Given the description of an element on the screen output the (x, y) to click on. 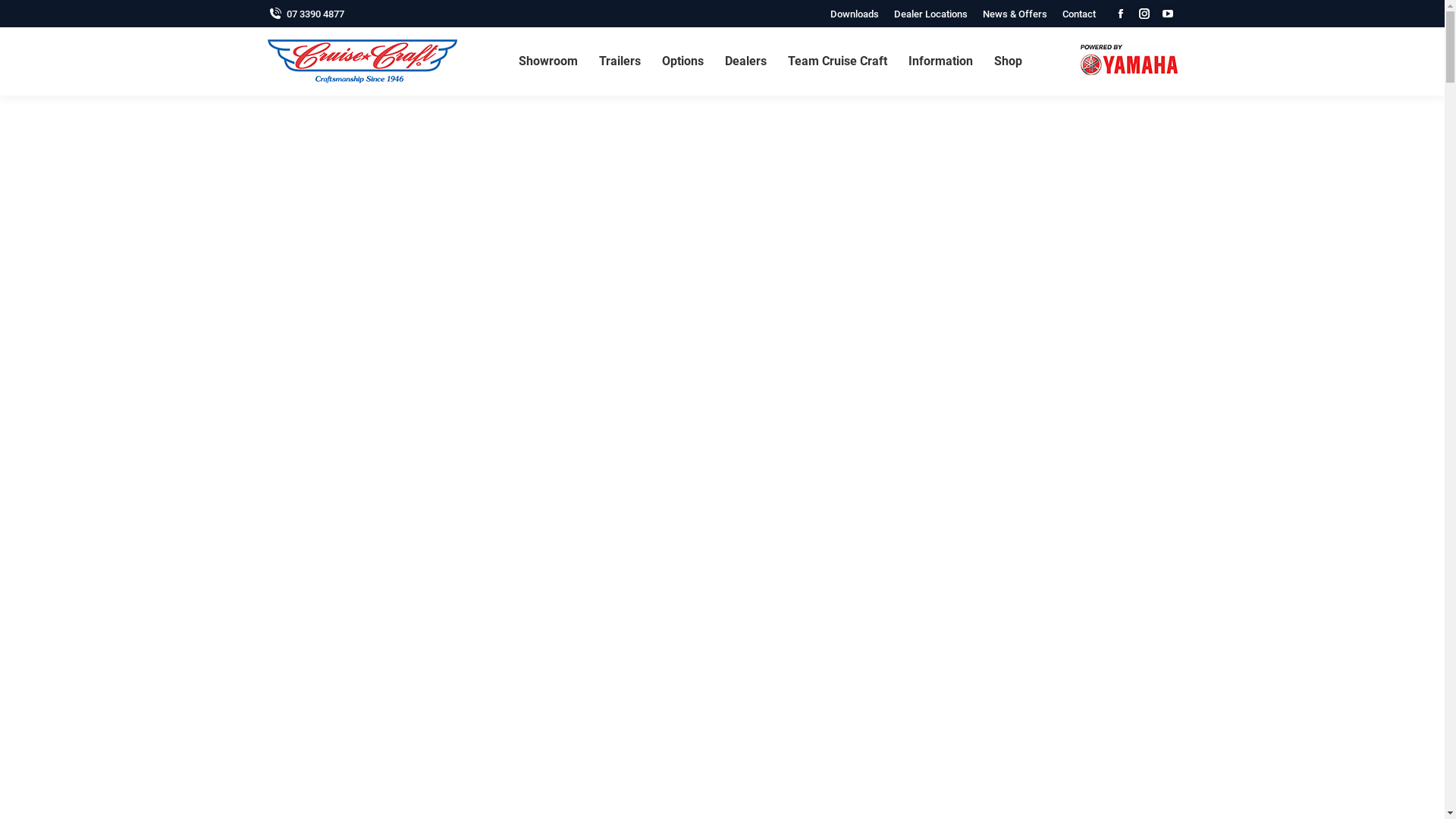
Dealers Element type: text (745, 60)
Contact Element type: text (1078, 13)
Facebook page opens in new window Element type: hover (1119, 13)
Trailers Element type: text (619, 60)
News & Offers Element type: text (1014, 13)
Instagram page opens in new window Element type: hover (1144, 13)
Dealer Locations Element type: text (929, 13)
YouTube page opens in new window Element type: hover (1166, 13)
Showroom Element type: text (547, 60)
Team Cruise Craft Element type: text (837, 60)
Shop Element type: text (1008, 60)
Options Element type: text (682, 60)
07 3390 4877 Element type: text (304, 13)
Downloads Element type: text (853, 13)
Information Element type: text (940, 60)
